Given the description of an element on the screen output the (x, y) to click on. 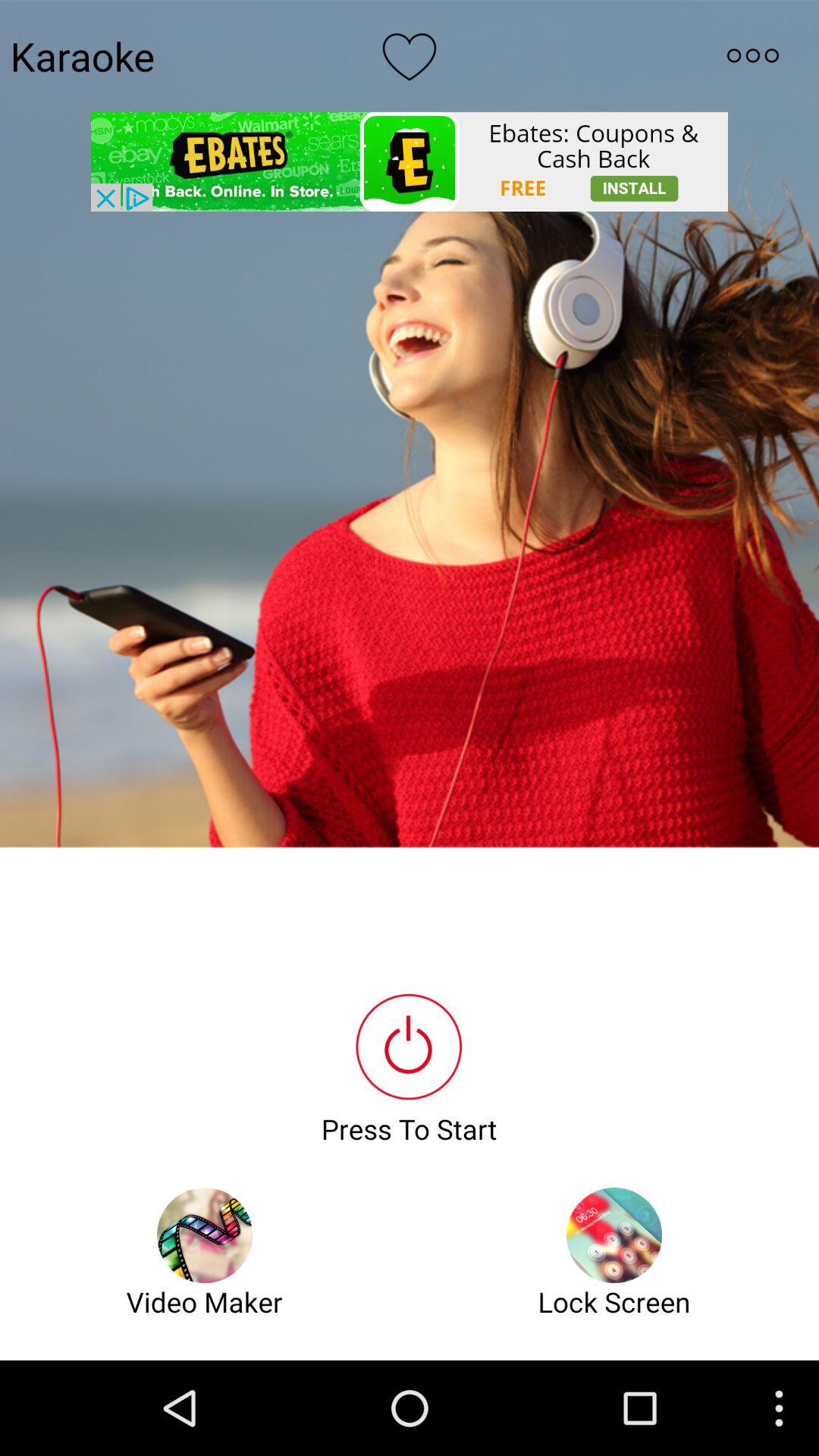
go to like option (409, 55)
